Given the description of an element on the screen output the (x, y) to click on. 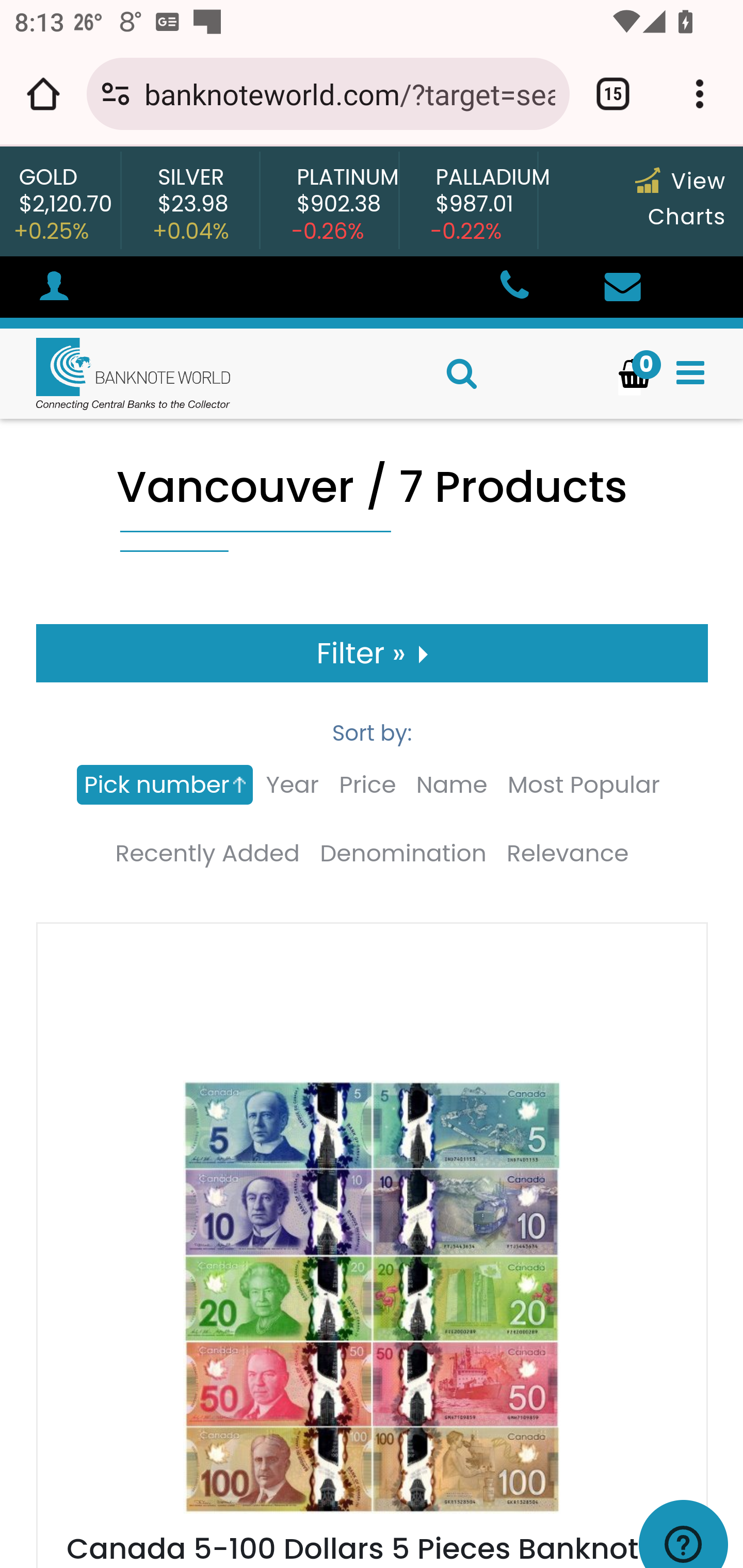
Open the home page (43, 93)
Connection is secure (115, 93)
Switch or close tabs (612, 93)
Customize and control Google Chrome (699, 93)
View Charts (680, 199)
 (513, 287)
 (622, 287)
# (54, 289)
Home (115, 373)
 (690, 373)
Filter »  (372, 652)
Pick number (164, 784)
Year (291, 784)
Price (366, 784)
Name (450, 784)
Most Popular (582, 784)
Recently Added (206, 853)
Denomination (403, 853)
Relevance (567, 853)
